Given the description of an element on the screen output the (x, y) to click on. 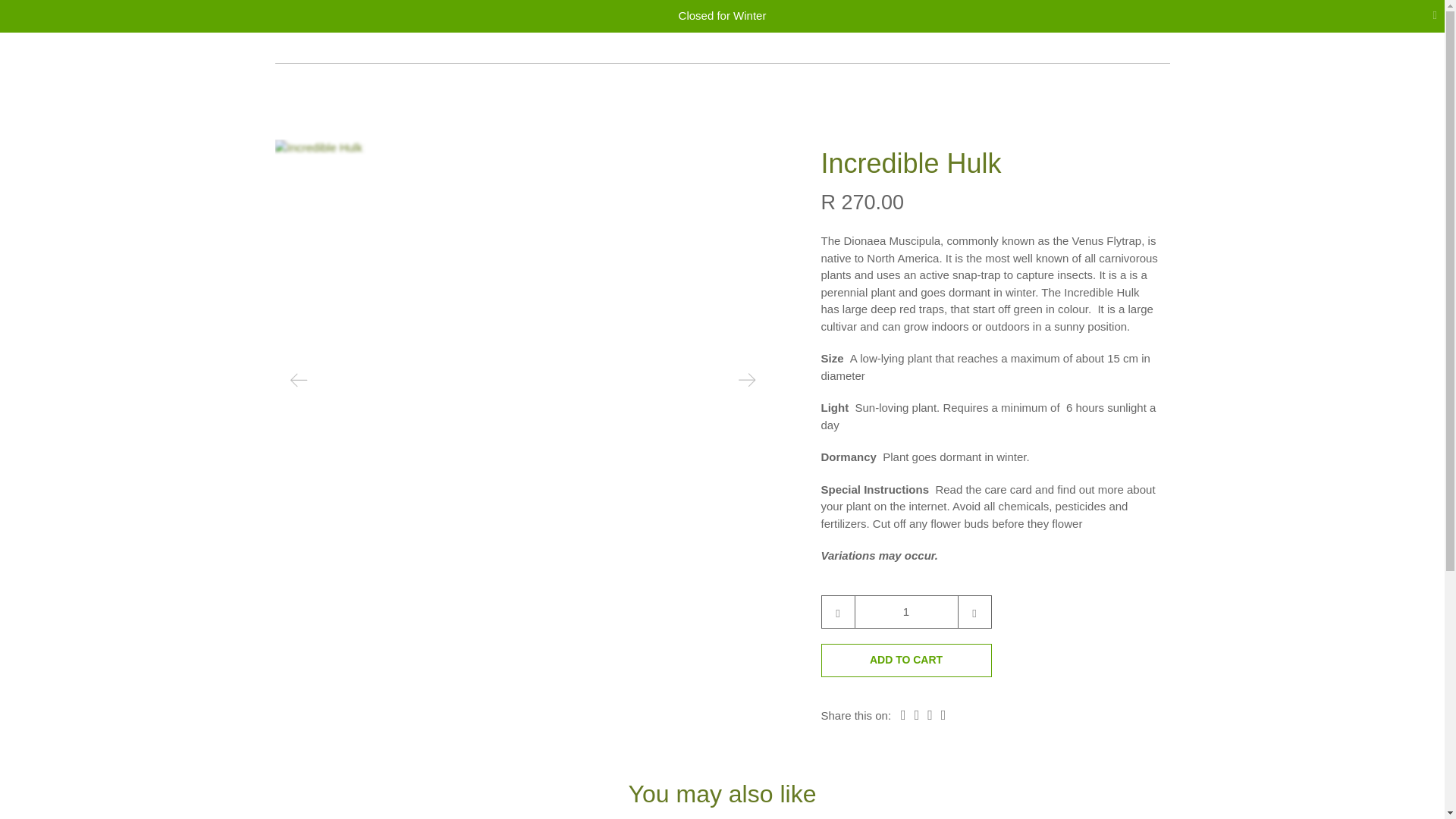
ADD TO CART (906, 660)
1 (905, 611)
Translation missing: en.layout.general.title (1161, 54)
Search (1139, 54)
